Given the description of an element on the screen output the (x, y) to click on. 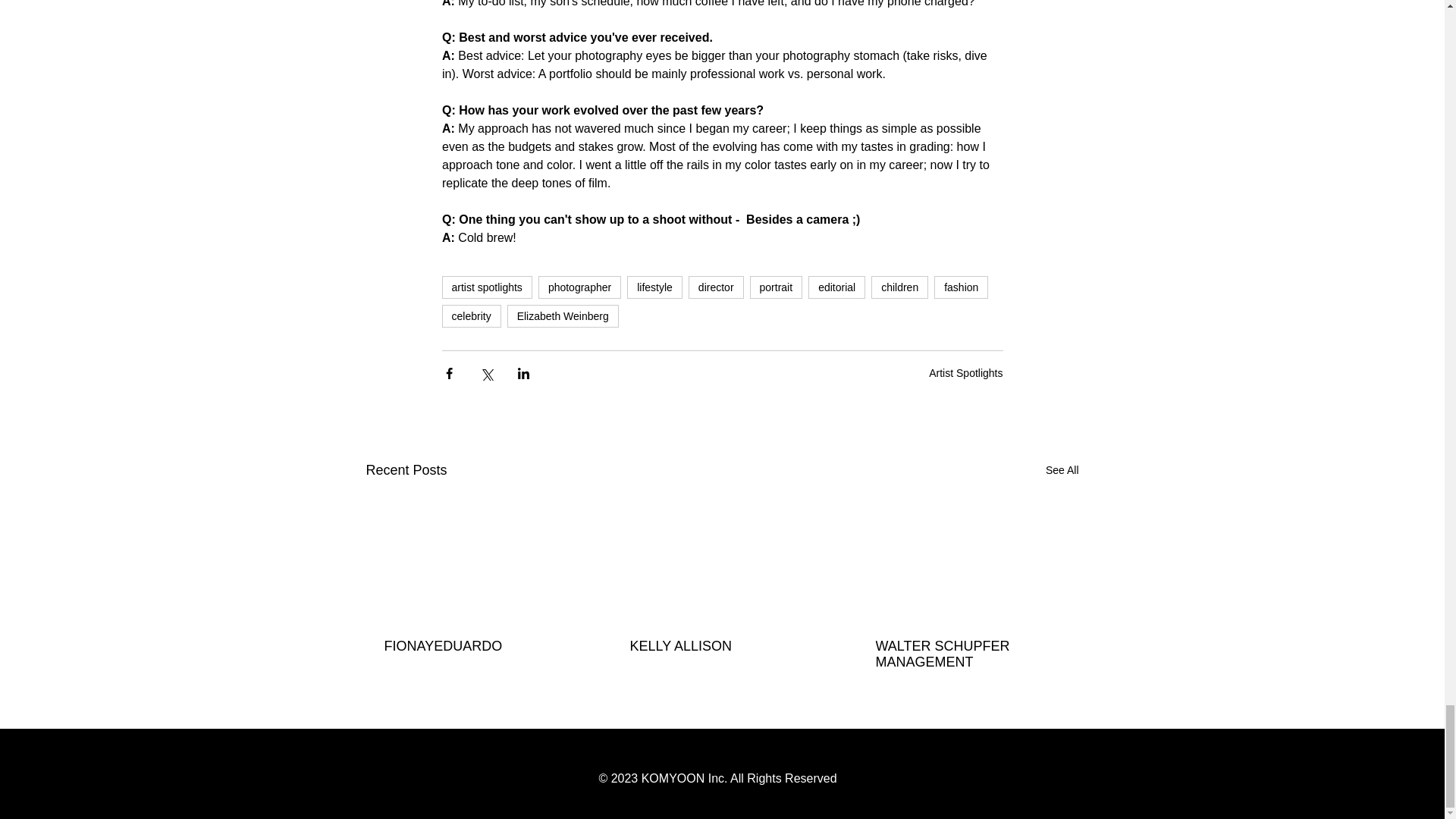
editorial (836, 287)
children (899, 287)
Artist Spotlights (965, 372)
See All (1061, 470)
photographer (579, 287)
fashion (961, 287)
director (716, 287)
artist spotlights (486, 287)
FIONAYEDUARDO (475, 646)
WALTER SCHUPFER MANAGEMENT (966, 654)
